Given the description of an element on the screen output the (x, y) to click on. 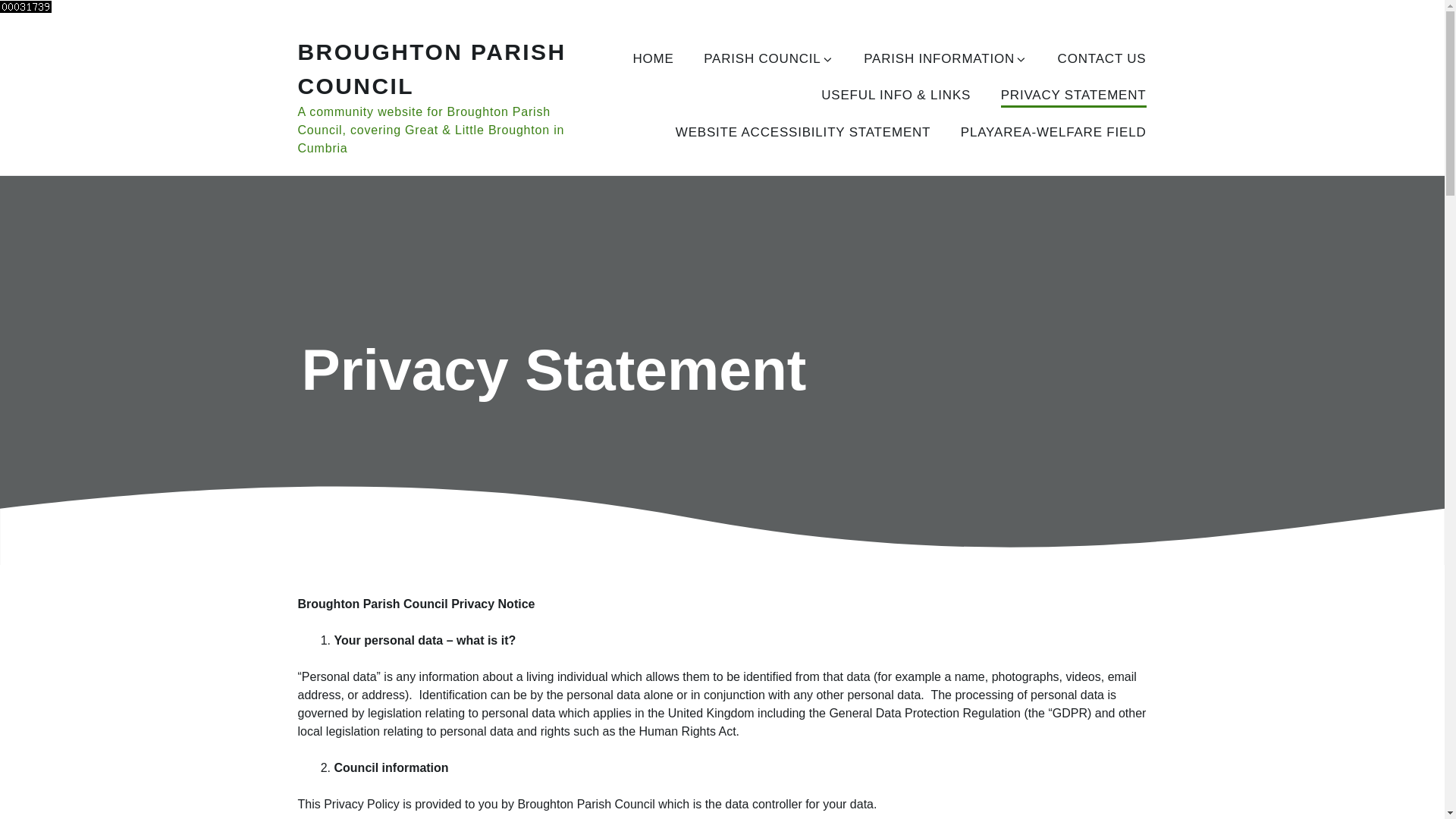
HOME (651, 60)
PLAYAREA-WELFARE FIELD (1053, 133)
PARISH COUNCIL (767, 60)
PARISH INFORMATION (945, 60)
CONTACT US (1102, 60)
WEBSITE ACCESSIBILITY STATEMENT (803, 133)
BROUGHTON PARISH COUNCIL (431, 68)
PRIVACY STATEMENT (1074, 96)
